Given the description of an element on the screen output the (x, y) to click on. 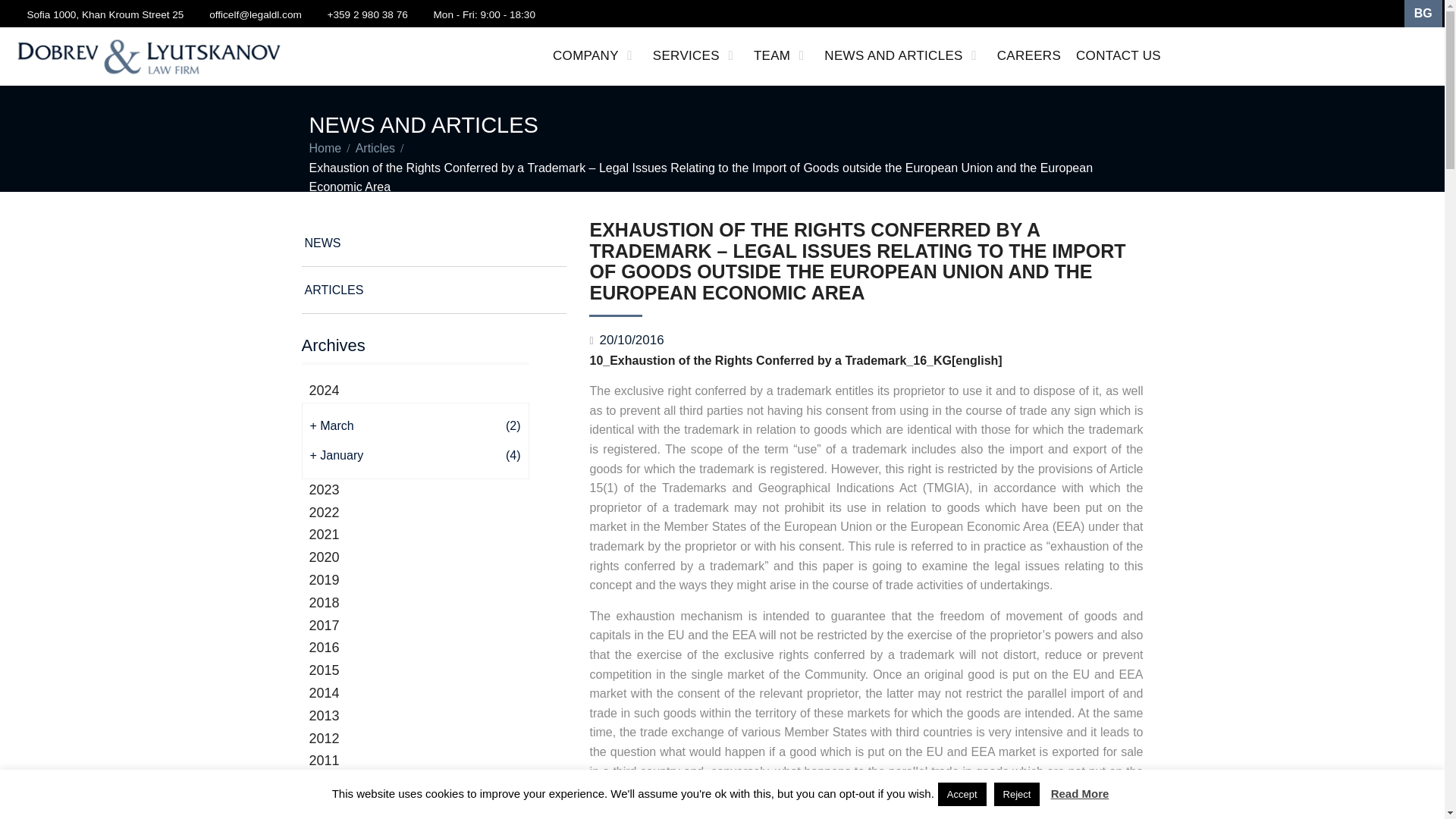
BG (1423, 13)
Sofia 1000, Khan Kroum Street 25 (104, 14)
